Given the description of an element on the screen output the (x, y) to click on. 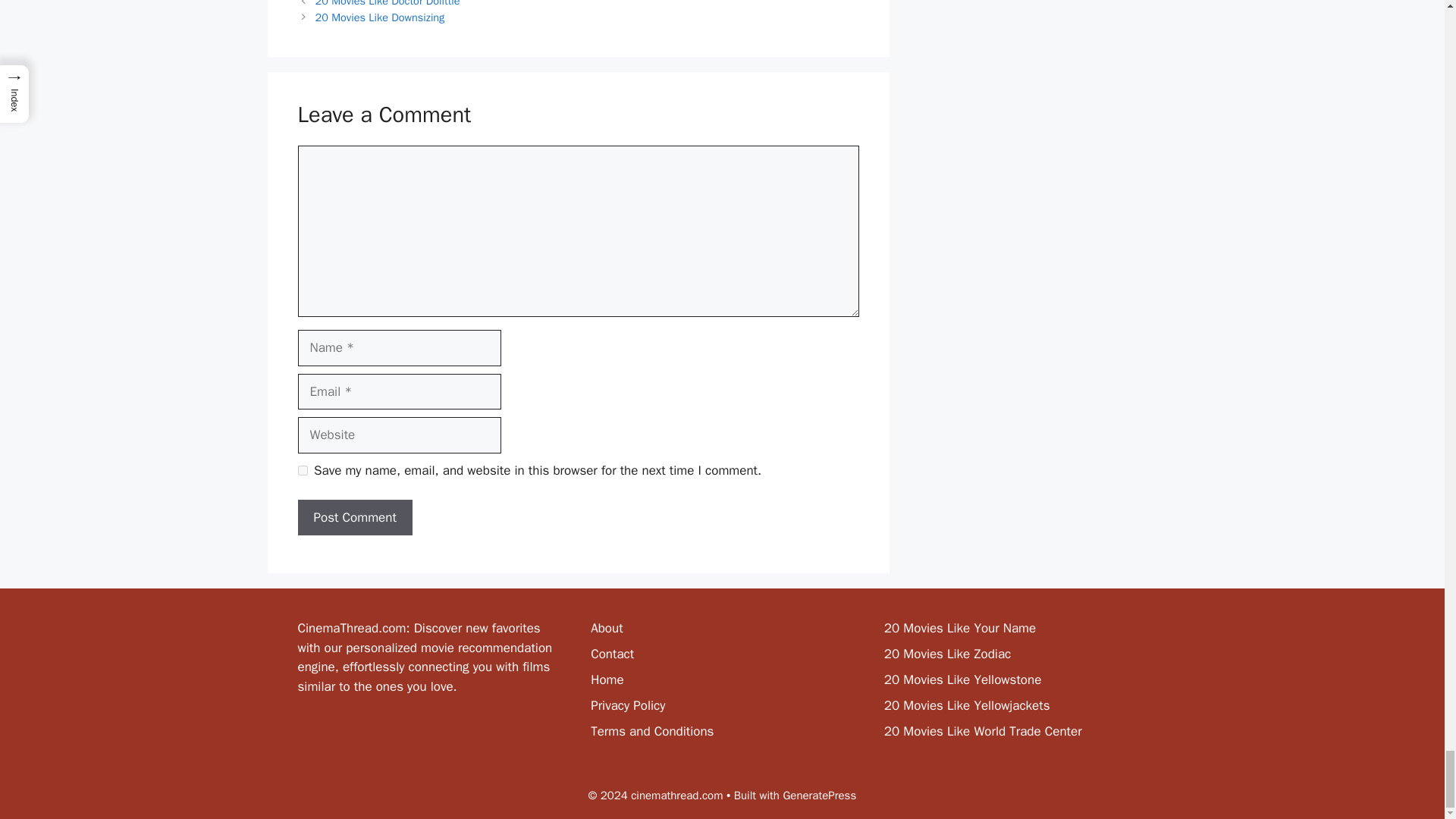
yes (302, 470)
Post Comment (354, 517)
